Given the description of an element on the screen output the (x, y) to click on. 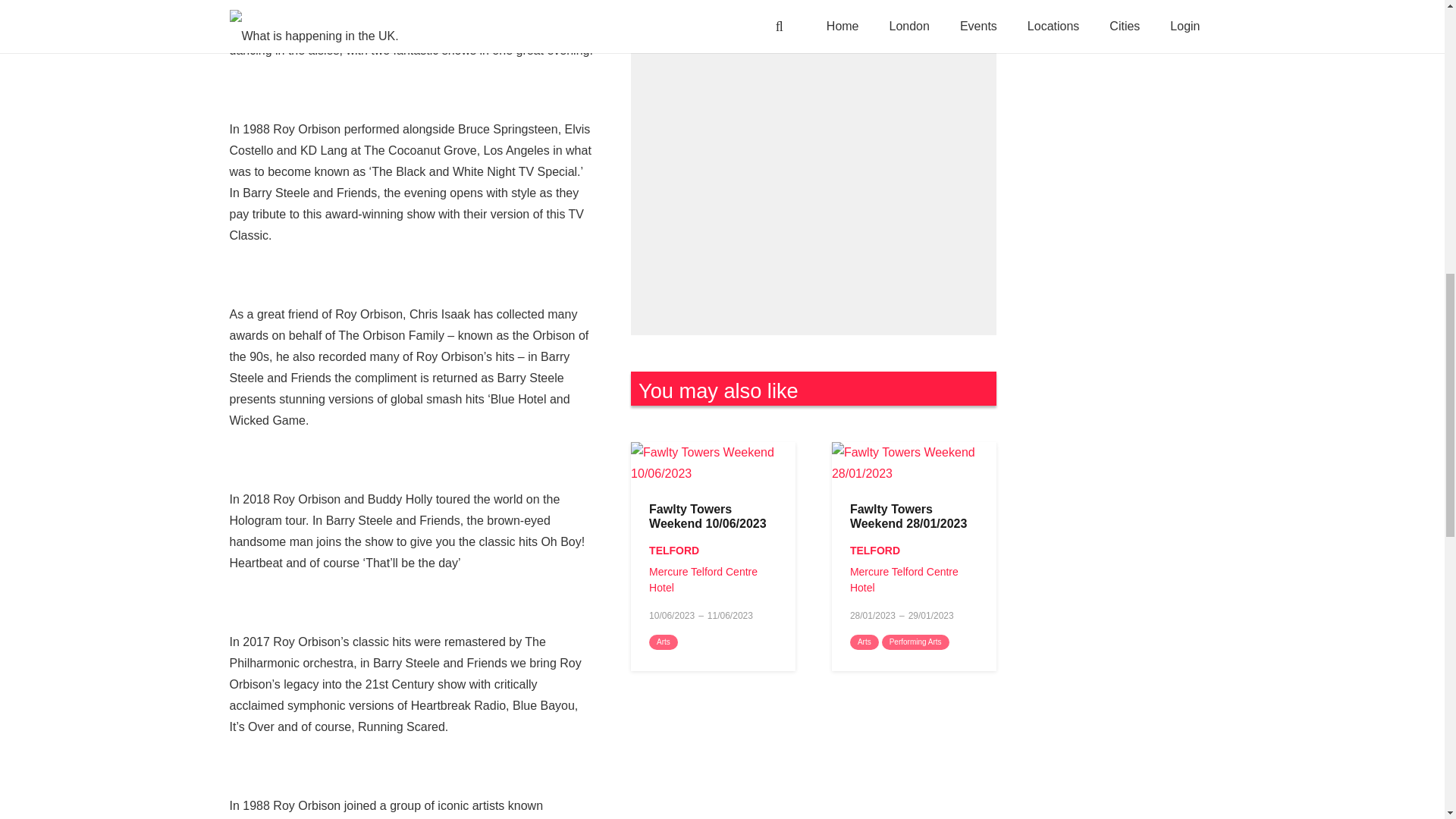
Mercure Telford Centre Hotel (703, 579)
Mercure Telford Centre Hotel (904, 579)
Back to top (1413, 26)
Arts (864, 642)
Performing Arts (915, 642)
Arts (663, 642)
TELFORD (673, 550)
TELFORD (874, 550)
